Given the description of an element on the screen output the (x, y) to click on. 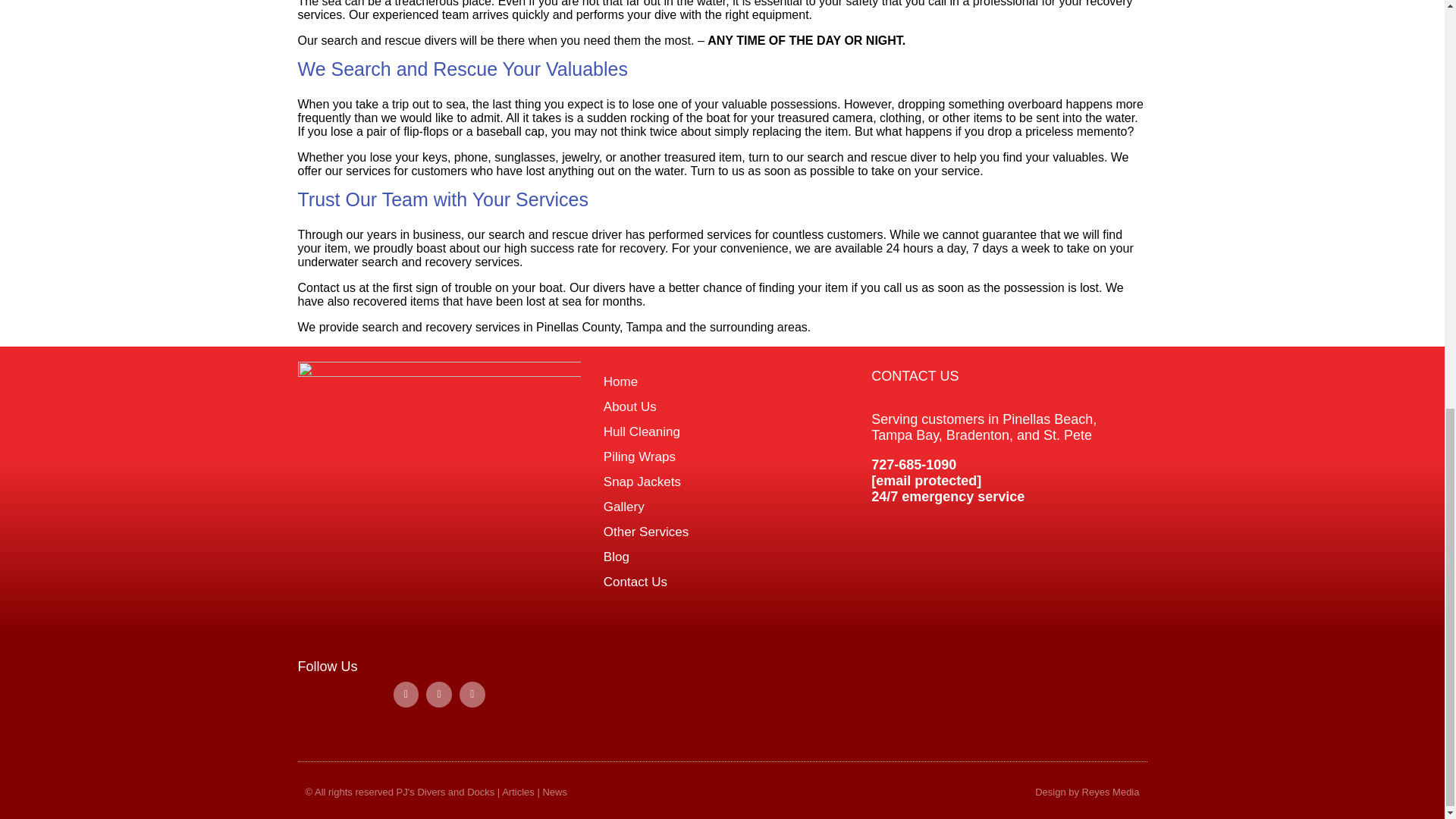
Other Services (722, 531)
About Us (722, 406)
Hull Cleaning (722, 431)
Piling Wraps (722, 456)
Home (722, 381)
Gallery (722, 506)
Snap Jackets (722, 481)
